Given the description of an element on the screen output the (x, y) to click on. 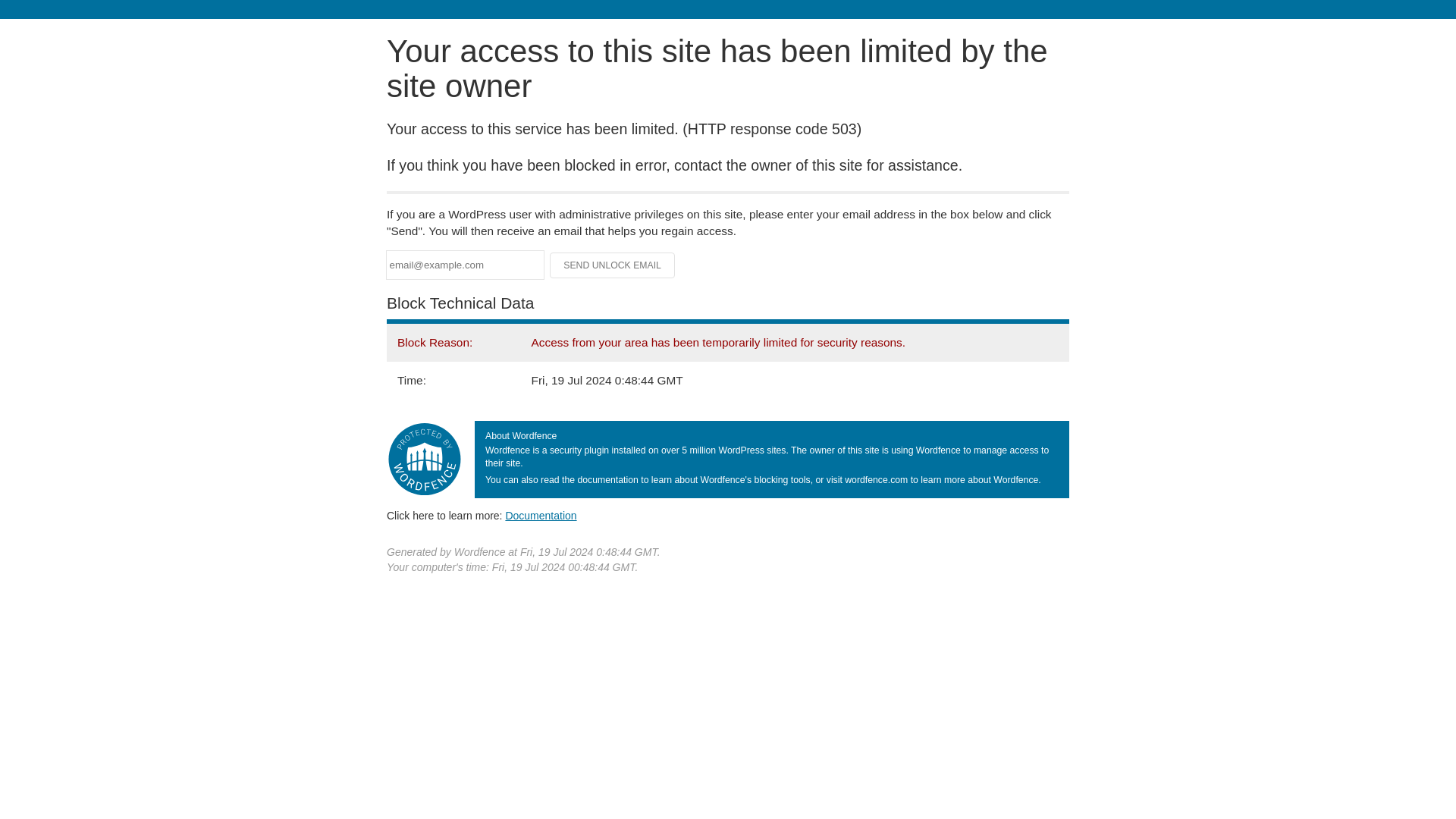
Documentation (540, 515)
Send Unlock Email (612, 265)
Send Unlock Email (612, 265)
